Given the description of an element on the screen output the (x, y) to click on. 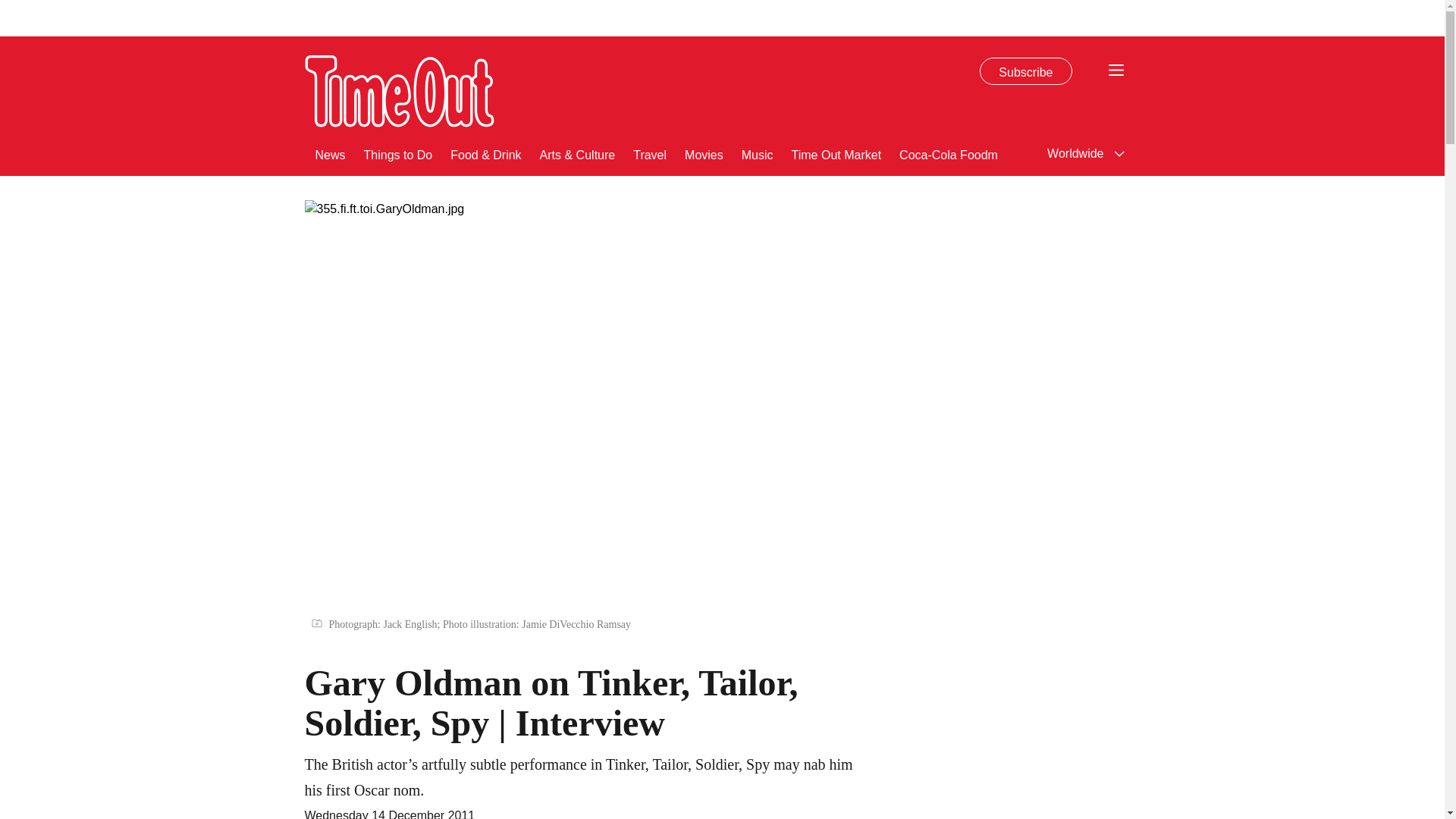
Movies (703, 153)
Go to the content (10, 7)
Coca-Cola Foodmarks (960, 153)
Subscribe (1025, 71)
Travel (649, 153)
News (330, 153)
Time Out Market (836, 153)
Music (756, 153)
Things to Do (397, 153)
